Given the description of an element on the screen output the (x, y) to click on. 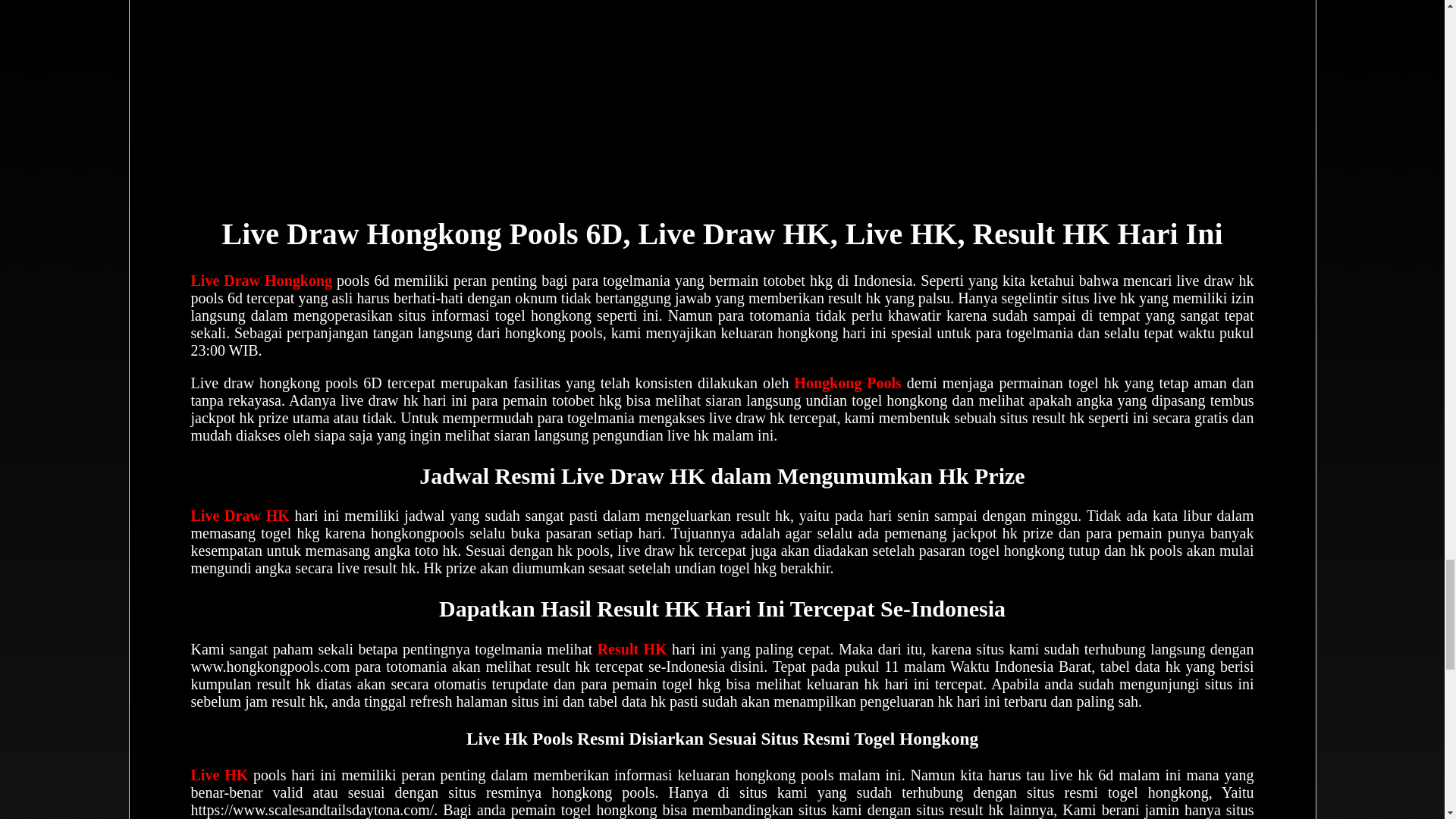
Live Draw HK (239, 515)
Live HK (219, 774)
Hongkong Pools (847, 382)
Result HK (631, 648)
Live Draw Hongkong (261, 280)
